Given the description of an element on the screen output the (x, y) to click on. 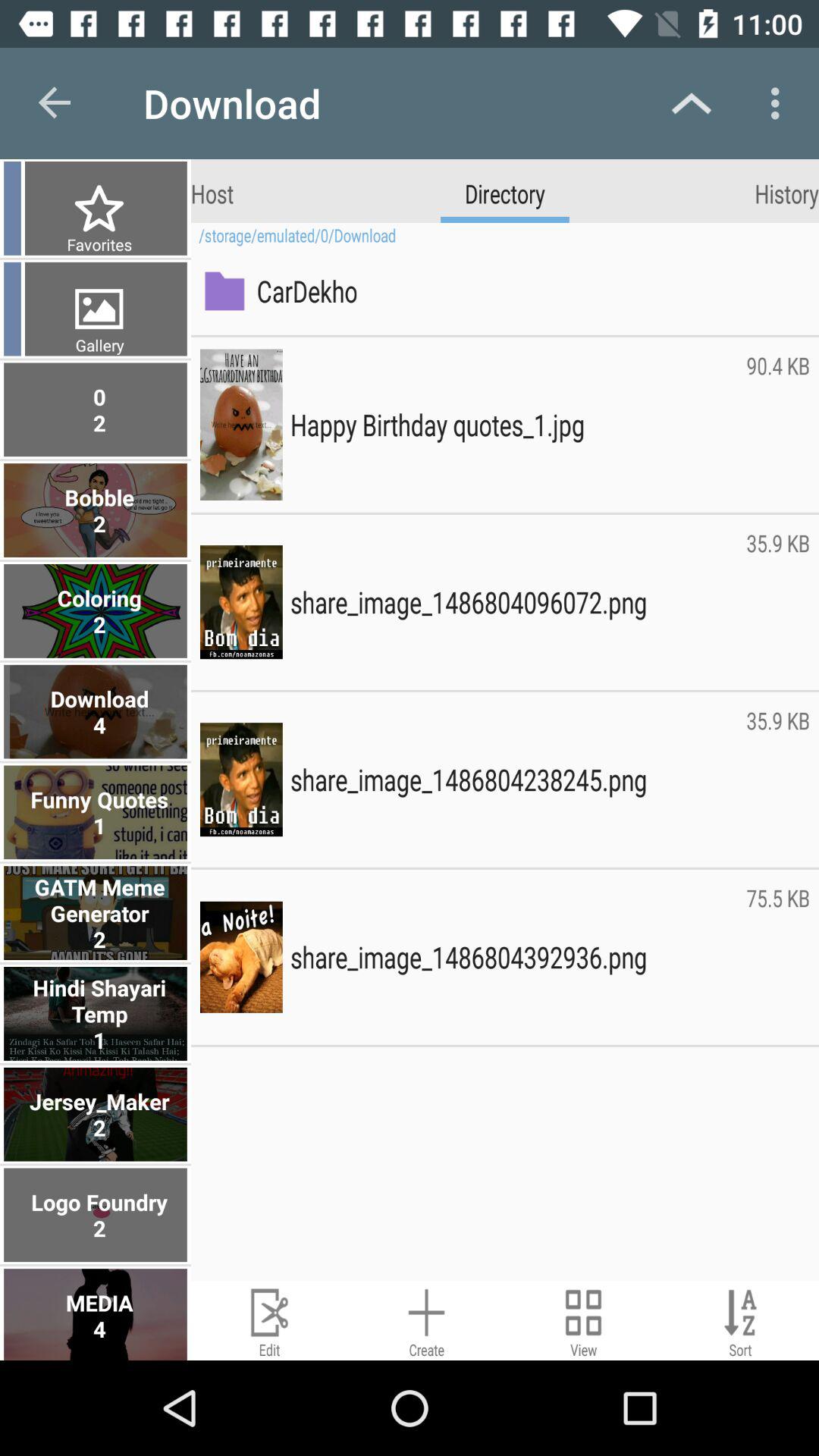
open tab (583, 1320)
